Given the description of an element on the screen output the (x, y) to click on. 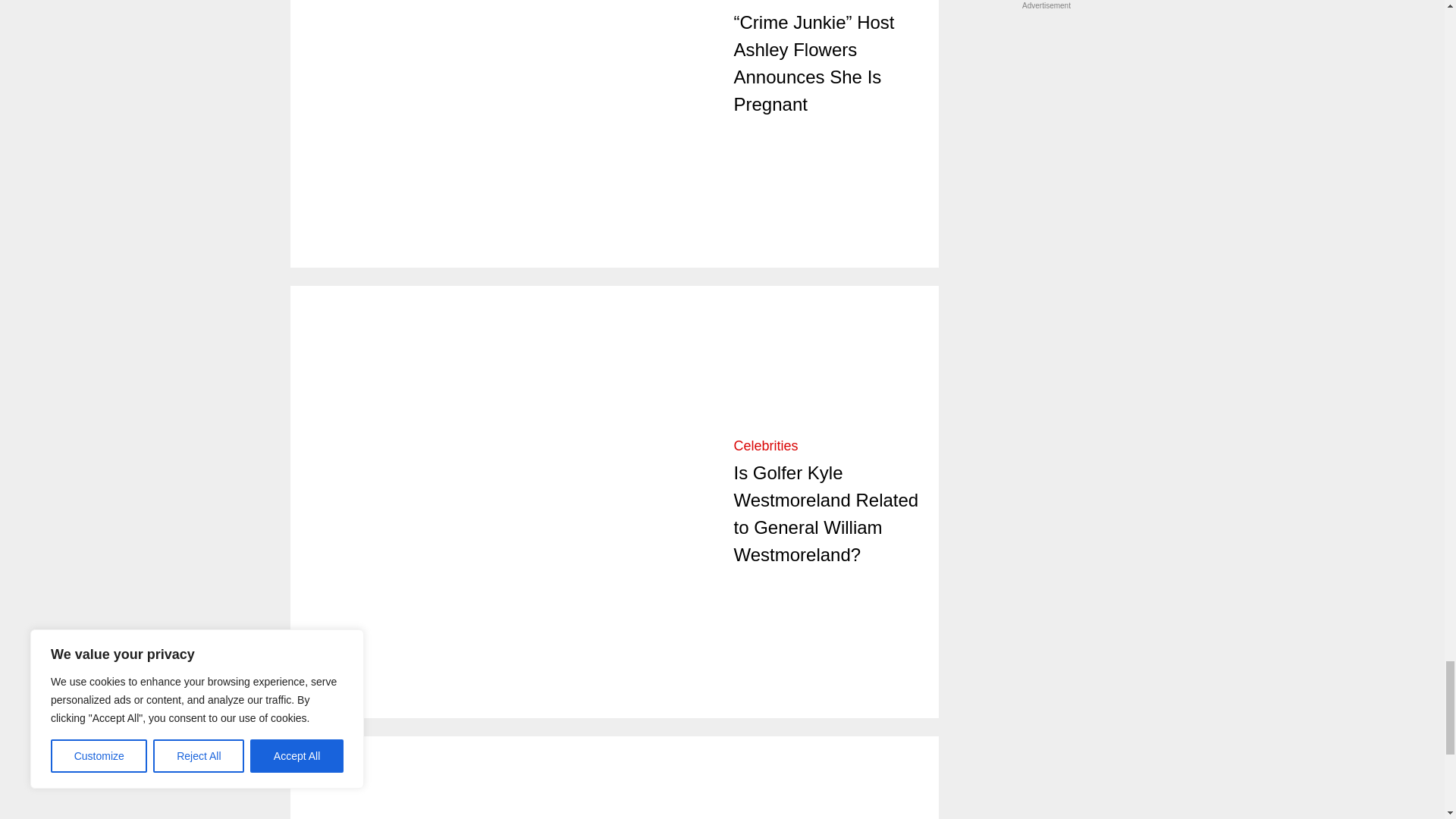
Category Name (765, 445)
Category Name (765, 1)
